Given the description of an element on the screen output the (x, y) to click on. 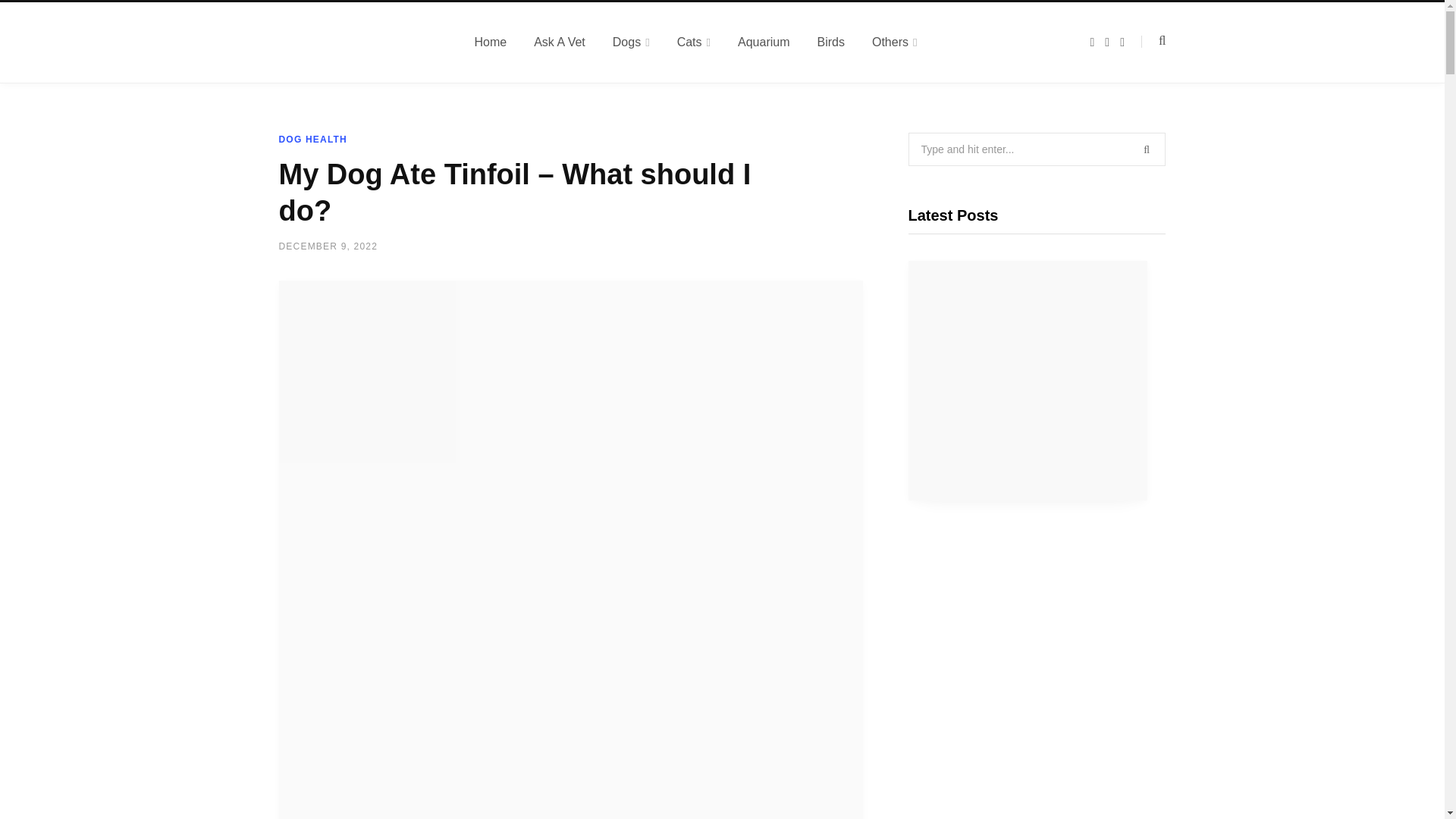
Search (1153, 41)
DOG HEALTH (313, 139)
Others (895, 41)
Ask A Vet (558, 41)
Petsoid (358, 42)
Aquarium (763, 41)
Cats (693, 41)
DECEMBER 9, 2022 (328, 245)
Home (491, 41)
Dogs (630, 41)
